Given the description of an element on the screen output the (x, y) to click on. 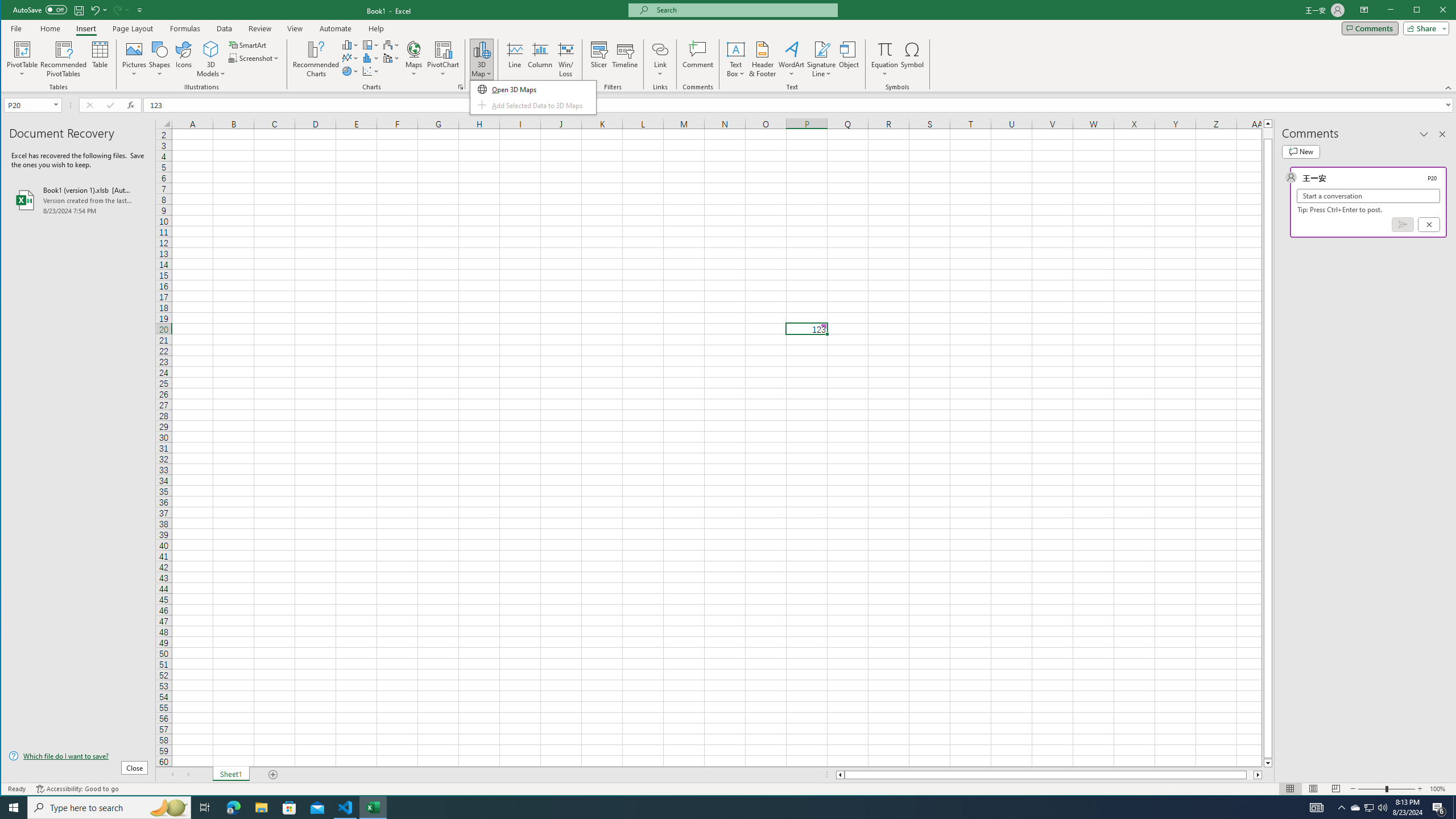
Signature Line (821, 59)
Excel - 1 running window (373, 807)
Insert Hierarchy Chart (371, 44)
